Given the description of an element on the screen output the (x, y) to click on. 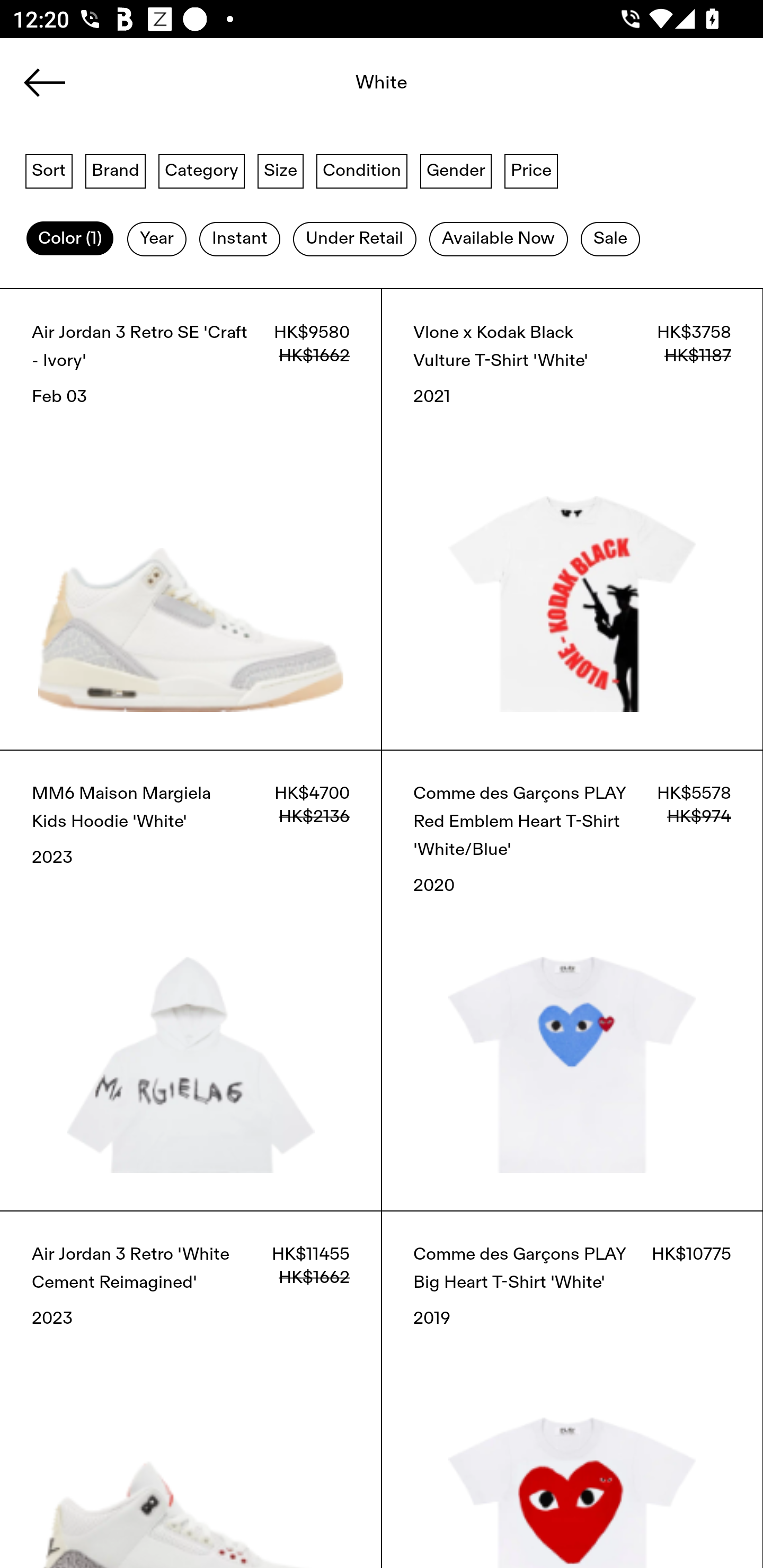
Sort (48, 170)
Brand (115, 170)
Category (201, 170)
Size (280, 170)
Condition (361, 170)
Gender (455, 170)
Price (530, 170)
Color (1) (69, 239)
Year (156, 239)
Instant (239, 239)
Under Retail (354, 239)
Available Now (497, 239)
Sale (610, 239)
